Given the description of an element on the screen output the (x, y) to click on. 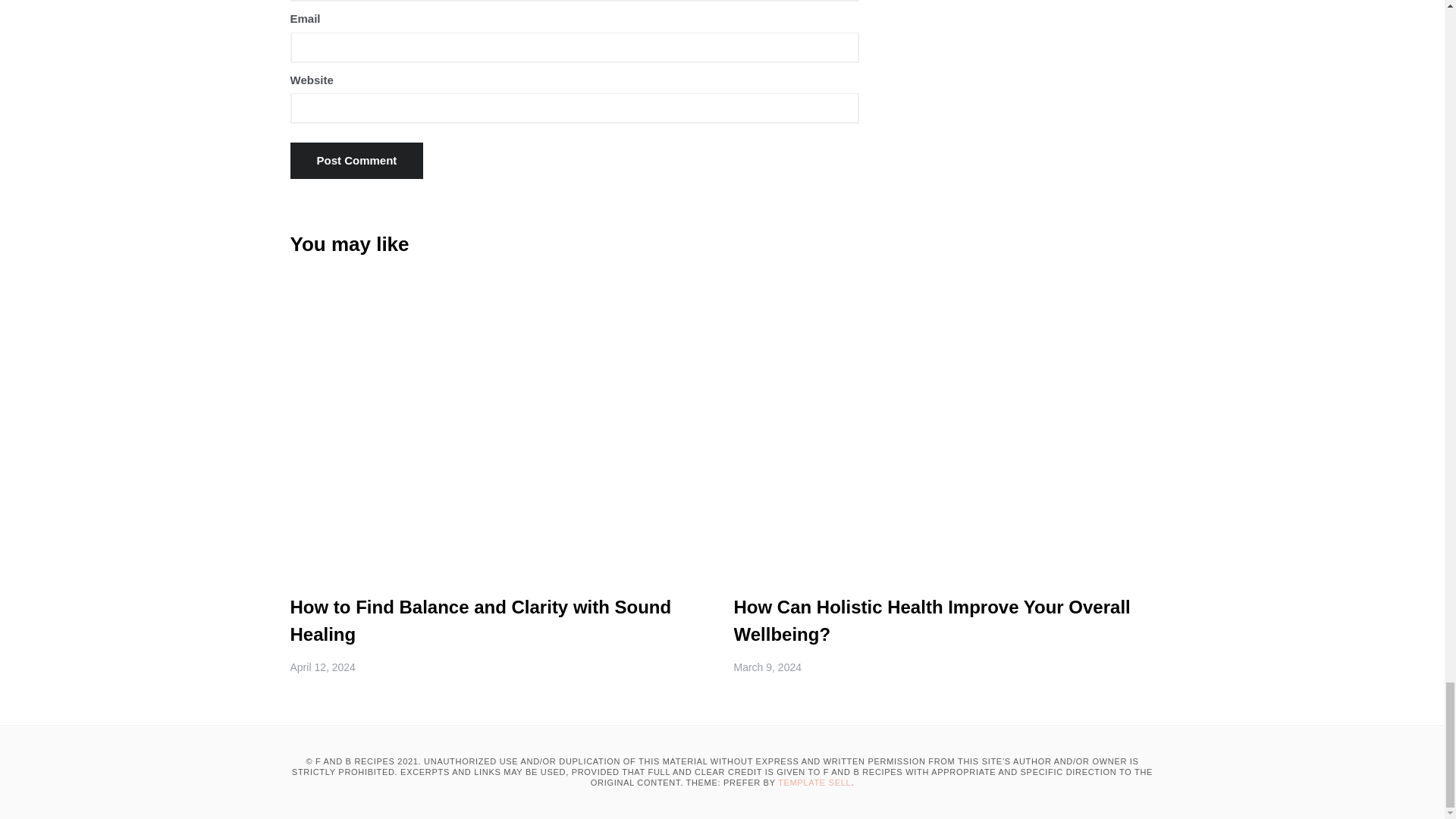
Post Comment (356, 160)
